Given the description of an element on the screen output the (x, y) to click on. 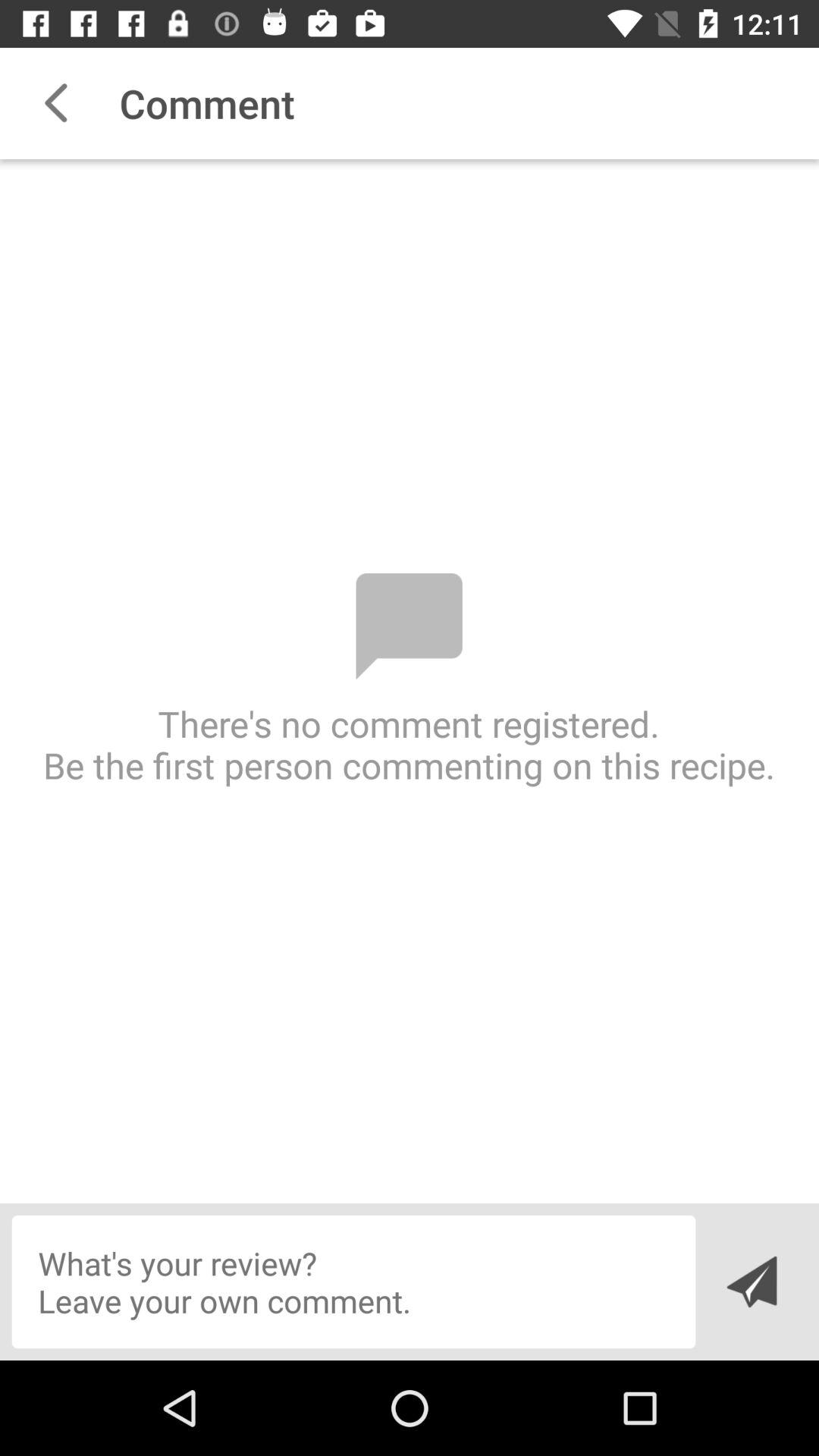
enter your review (353, 1281)
